Given the description of an element on the screen output the (x, y) to click on. 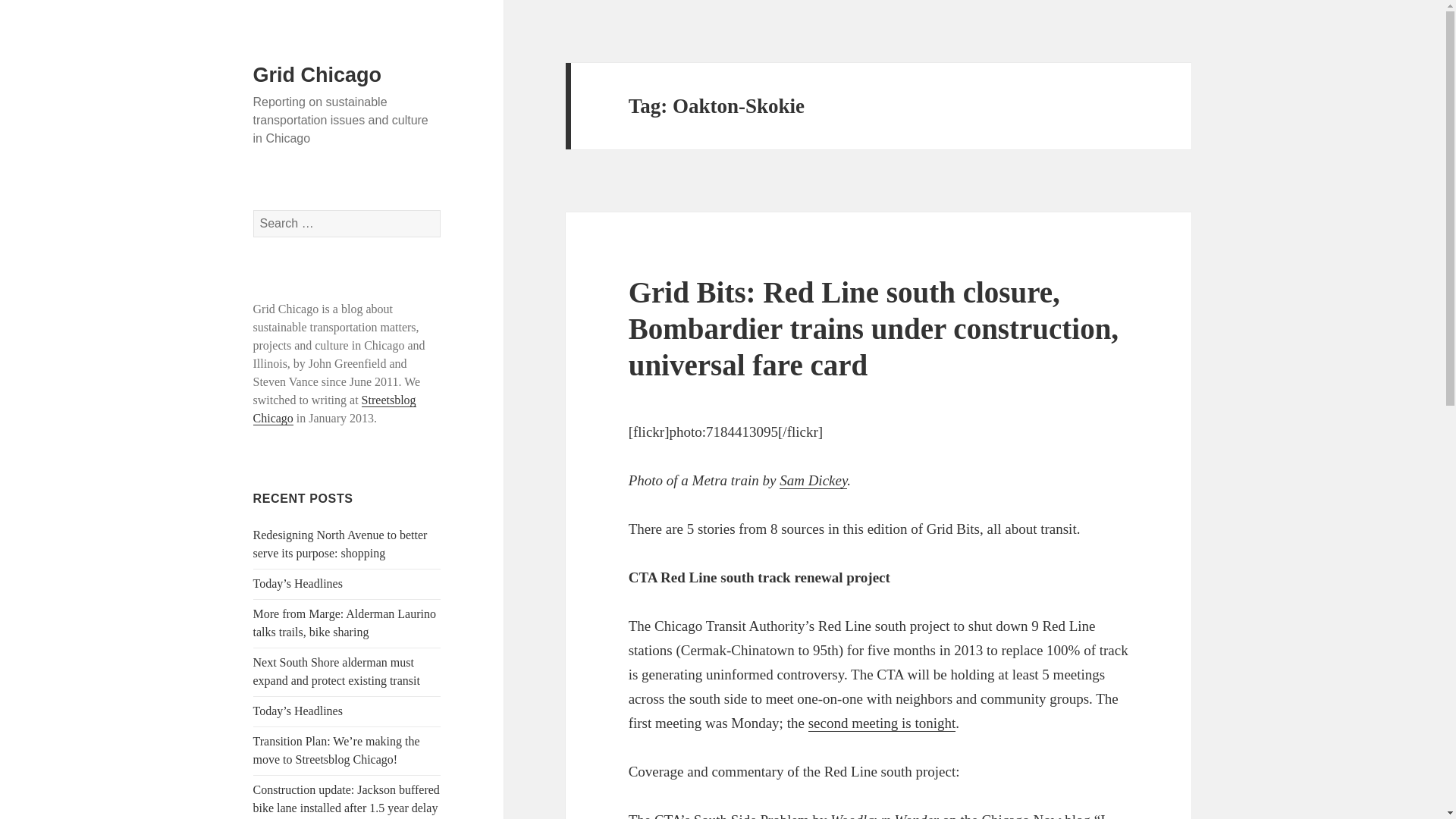
Sam Dickey (812, 480)
Grid Chicago (317, 74)
second meeting is tonight (882, 723)
More from Marge: Alderman Laurino talks trails, bike sharing (344, 622)
Streetsblog Chicago (334, 409)
